Given the description of an element on the screen output the (x, y) to click on. 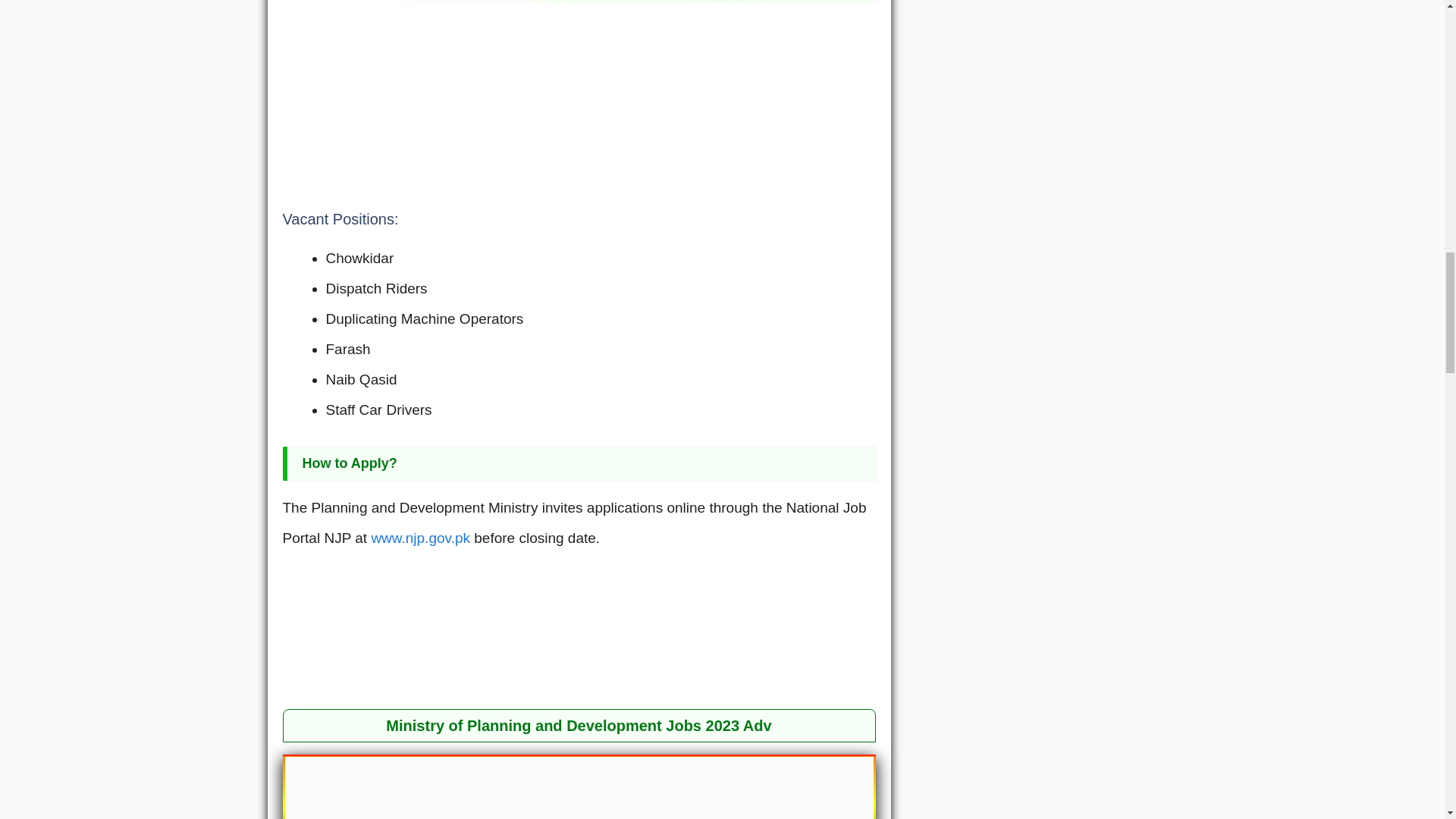
www.njp.gov.pk (420, 537)
